Given the description of an element on the screen output the (x, y) to click on. 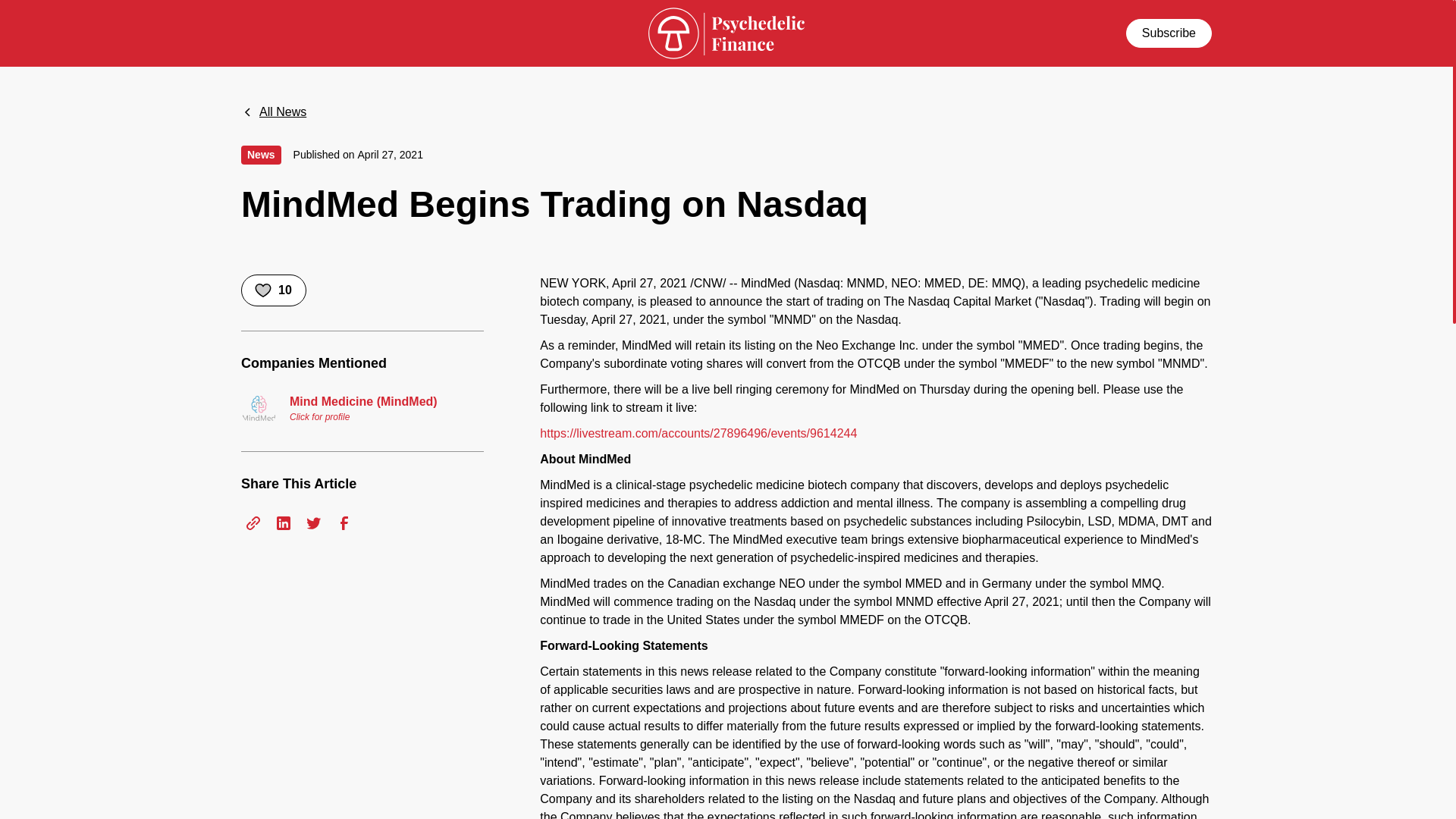
Share on Facebook (343, 523)
10 (273, 290)
Share on Twitter (313, 523)
All News (273, 112)
Subscribe (1168, 32)
Copy URL (252, 523)
Share on LinkedIn (282, 523)
